Given the description of an element on the screen output the (x, y) to click on. 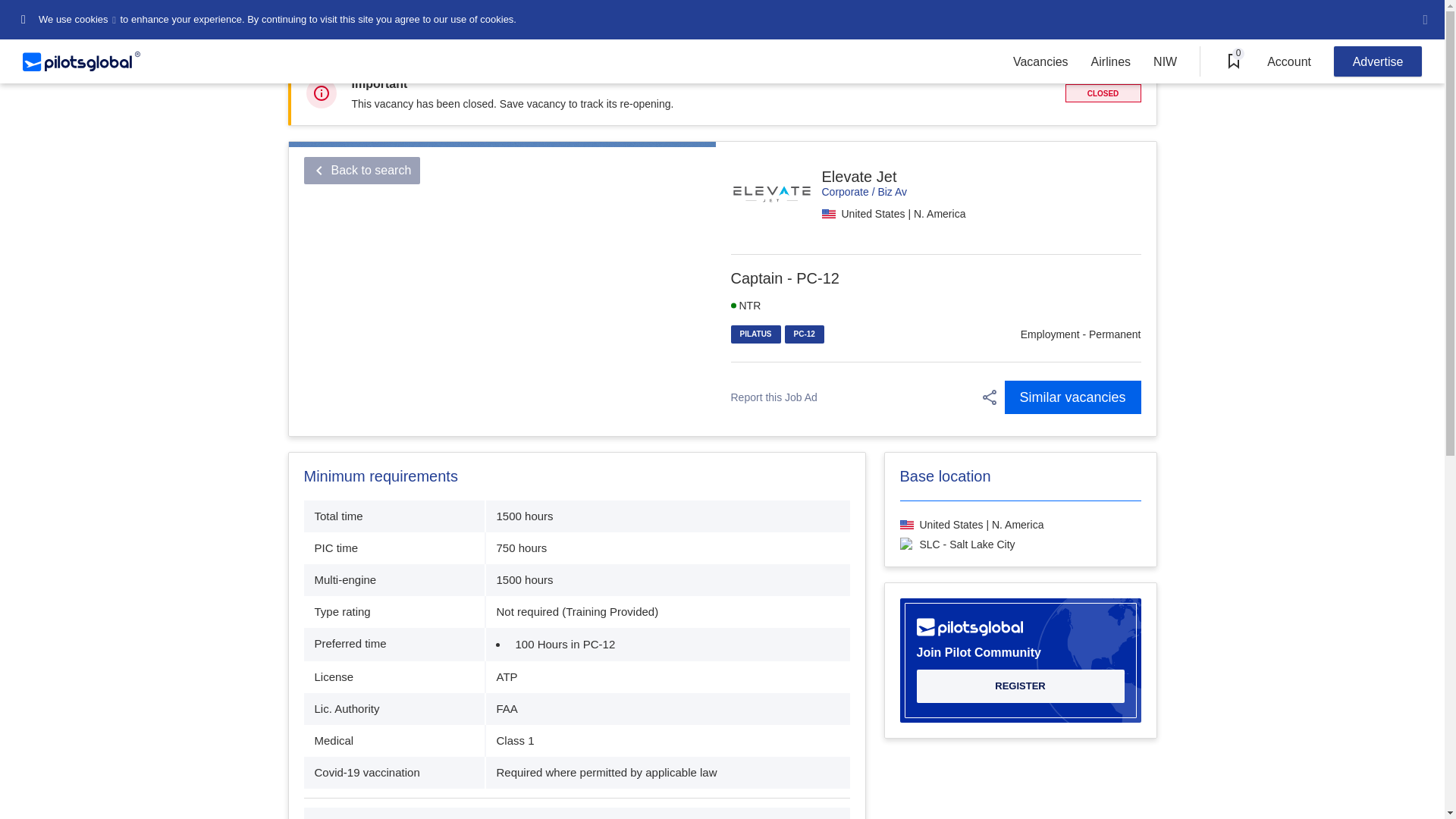
Airlines (1110, 61)
Similar vacancies (1072, 397)
REGISTER (1019, 685)
Vacancies (1040, 61)
Back to search (361, 170)
Report this Job Ad (773, 397)
NIW (1164, 61)
Advertise (1377, 60)
